Given the description of an element on the screen output the (x, y) to click on. 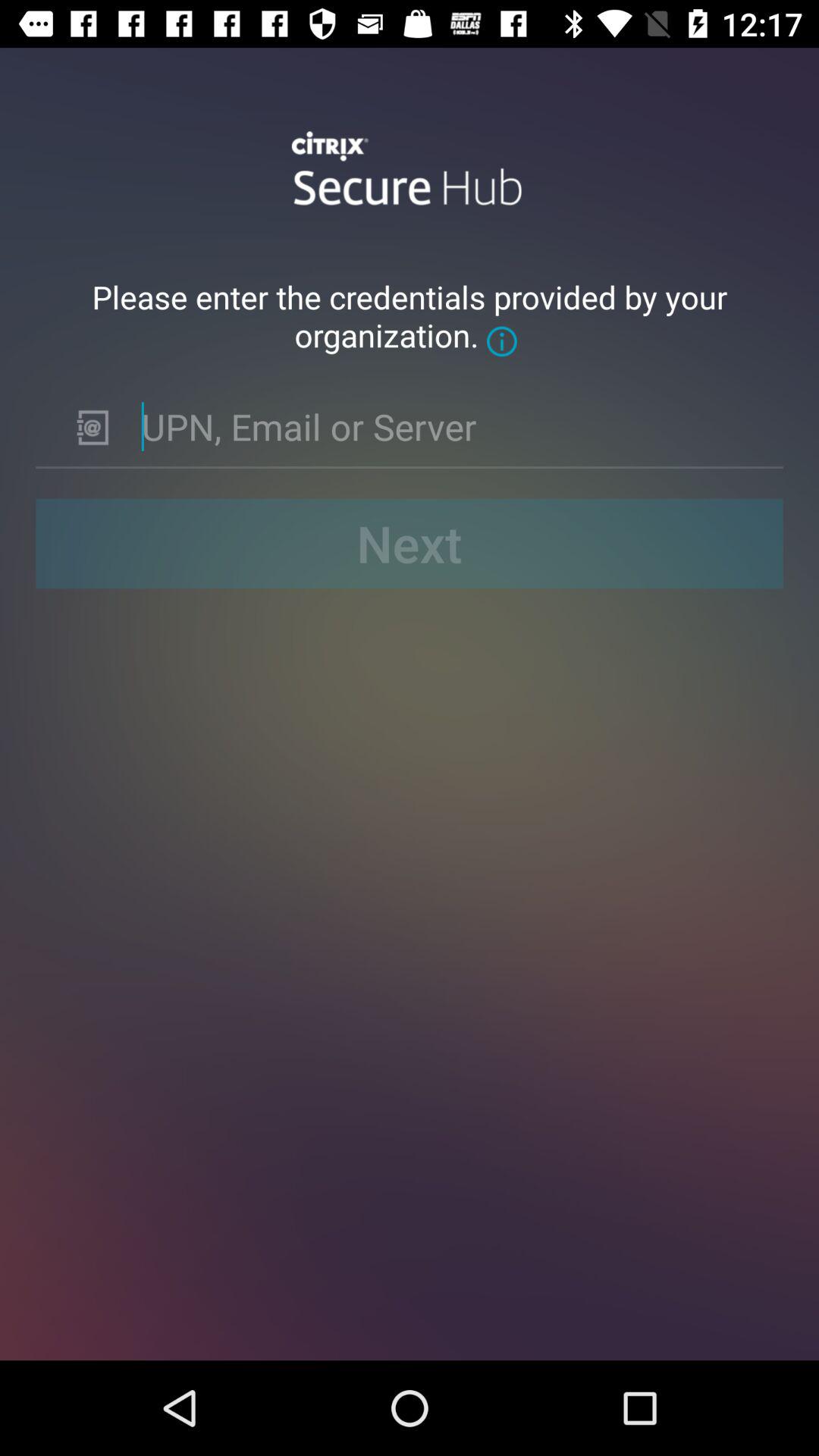
enter credentials (450, 426)
